Given the description of an element on the screen output the (x, y) to click on. 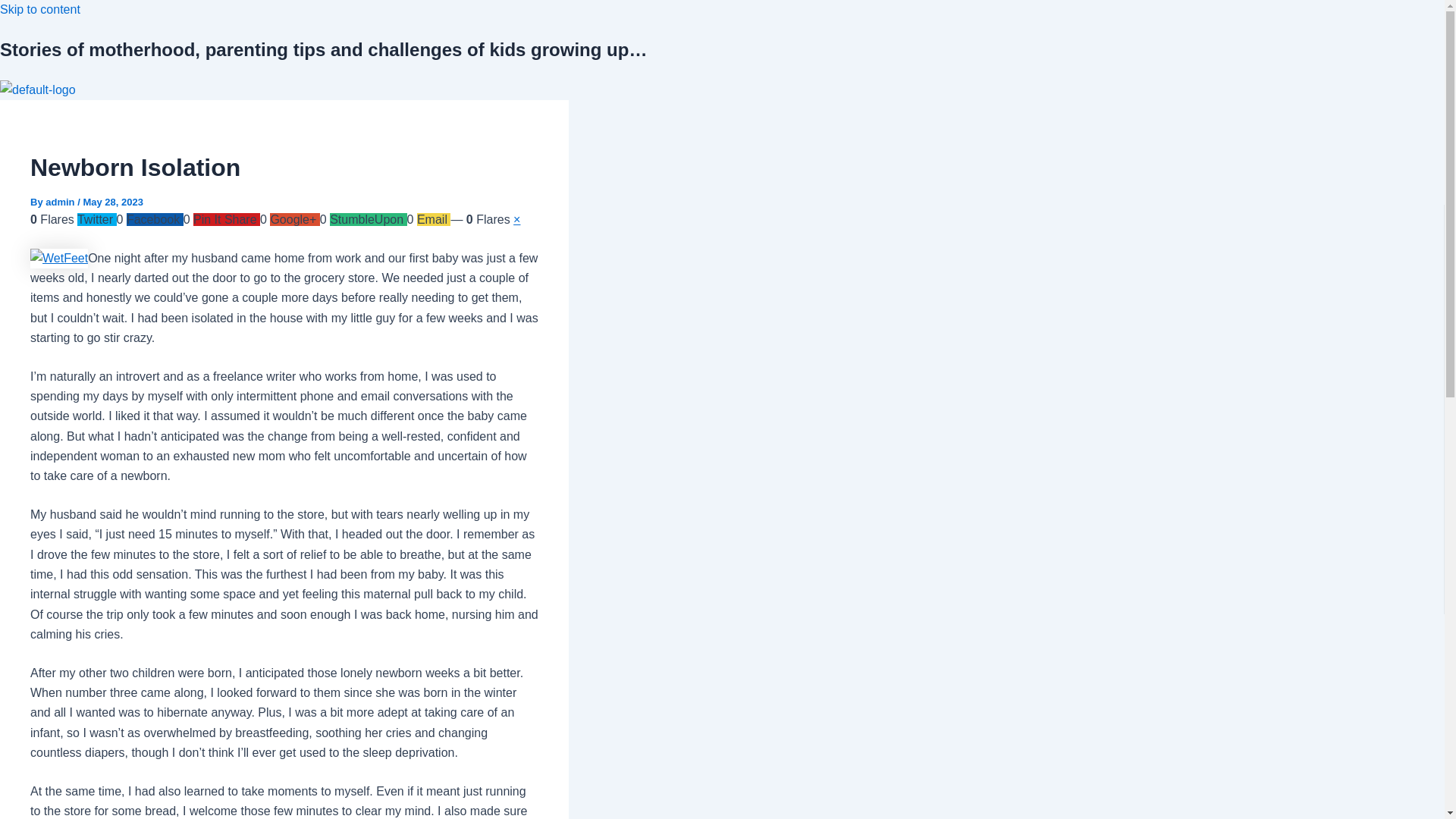
admin (61, 202)
Skip to content (40, 9)
Skip to content (40, 9)
View all posts by admin (61, 202)
